Given the description of an element on the screen output the (x, y) to click on. 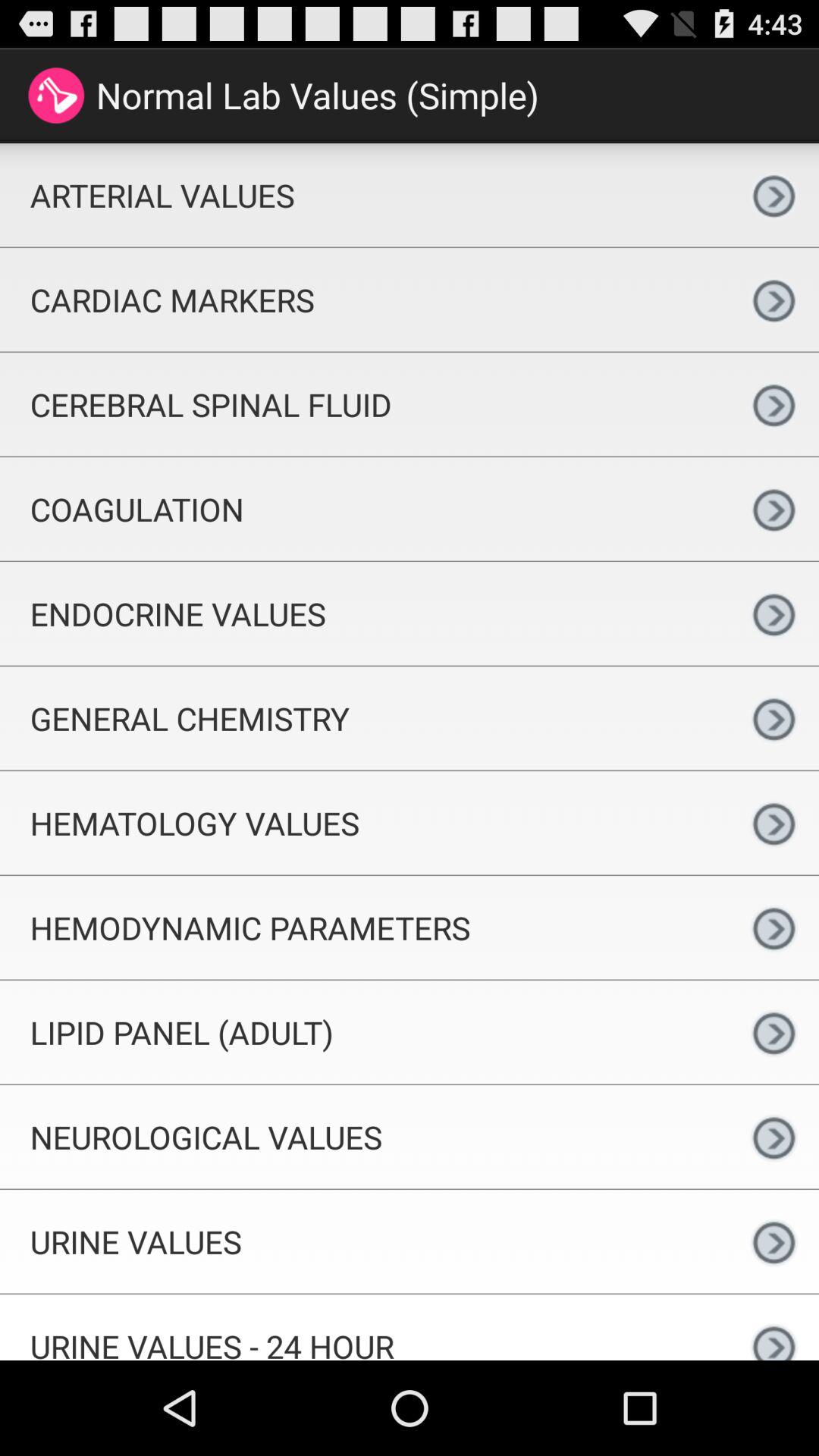
choose the hemodynamic parameters (364, 927)
